Given the description of an element on the screen output the (x, y) to click on. 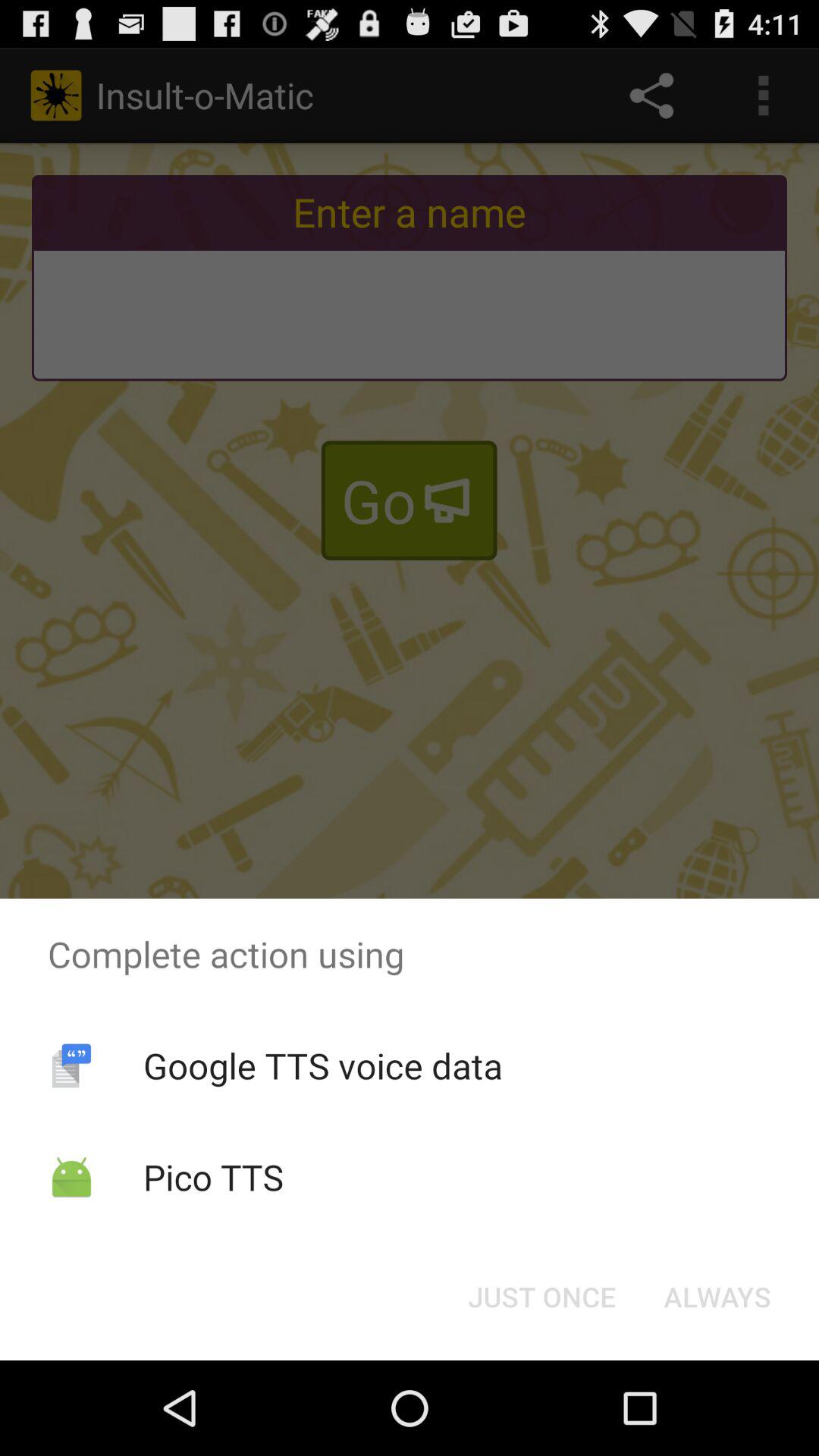
click the app above pico tts app (322, 1065)
